Given the description of an element on the screen output the (x, y) to click on. 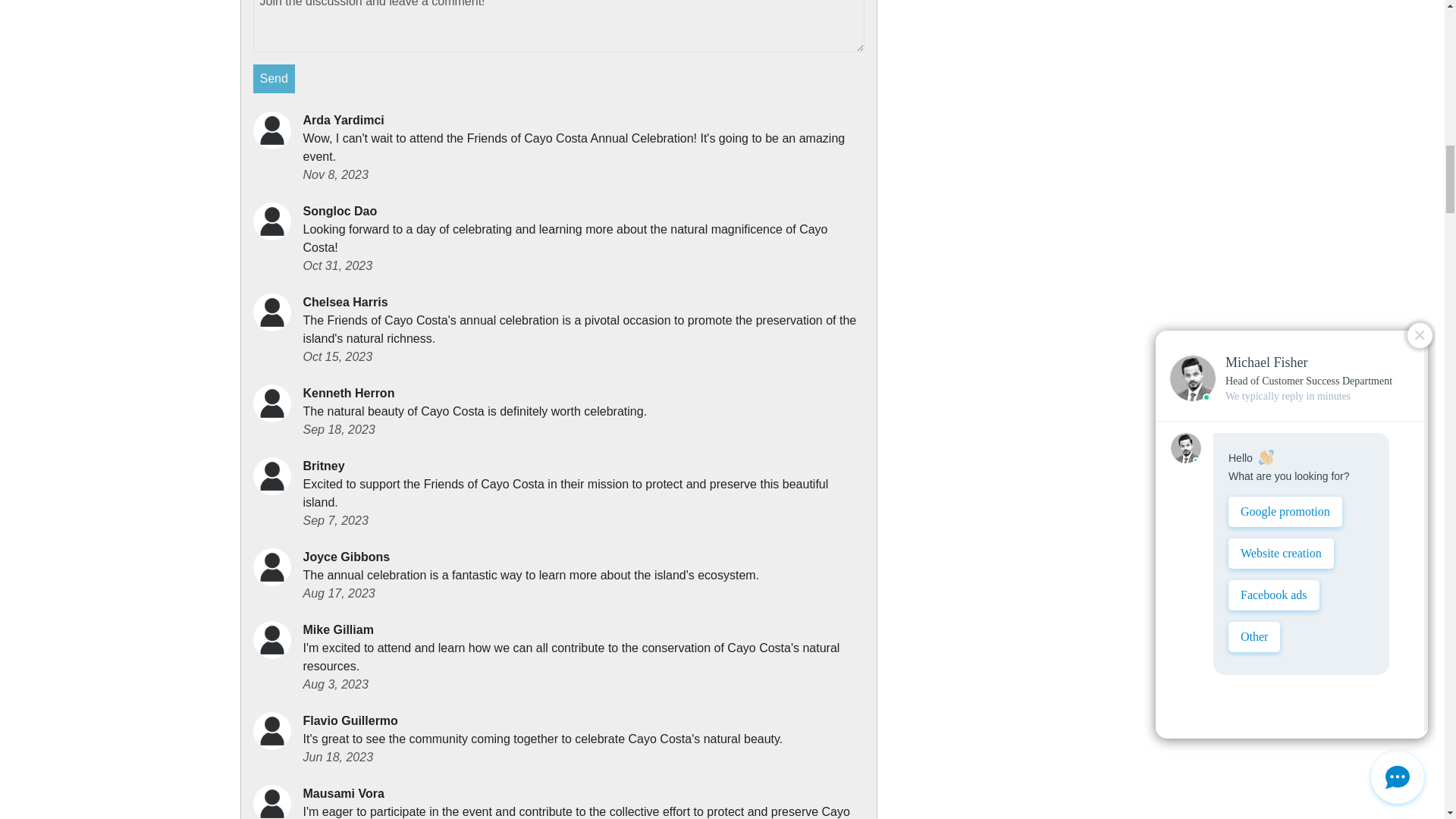
Send (274, 78)
Send (274, 78)
